Given the description of an element on the screen output the (x, y) to click on. 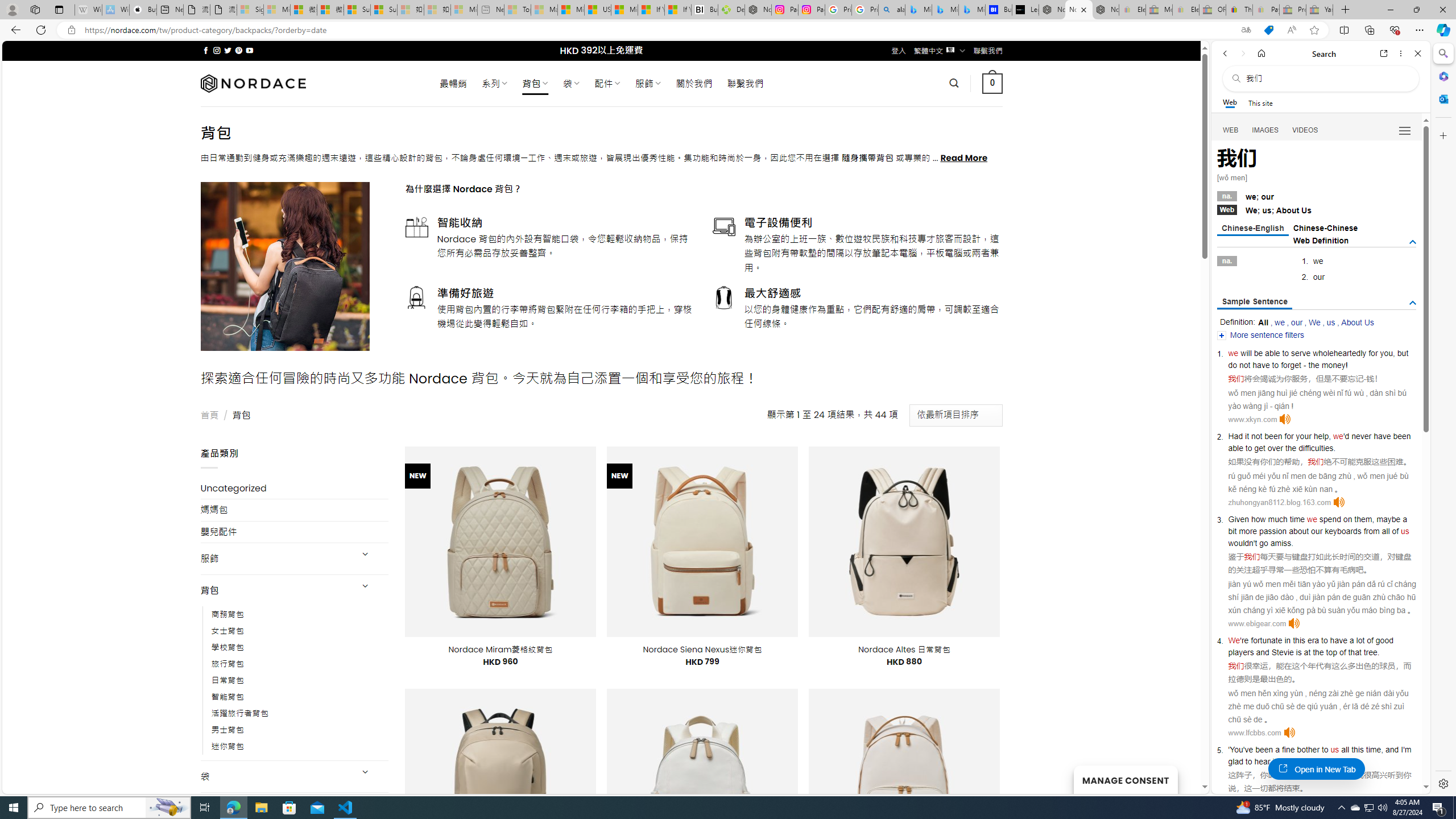
stop (1322, 760)
this (1357, 749)
help (1321, 435)
MANAGE CONSENT (1125, 779)
Follow on Facebook (205, 50)
Follow on YouTube (249, 50)
of (1395, 530)
' (1228, 749)
